Given the description of an element on the screen output the (x, y) to click on. 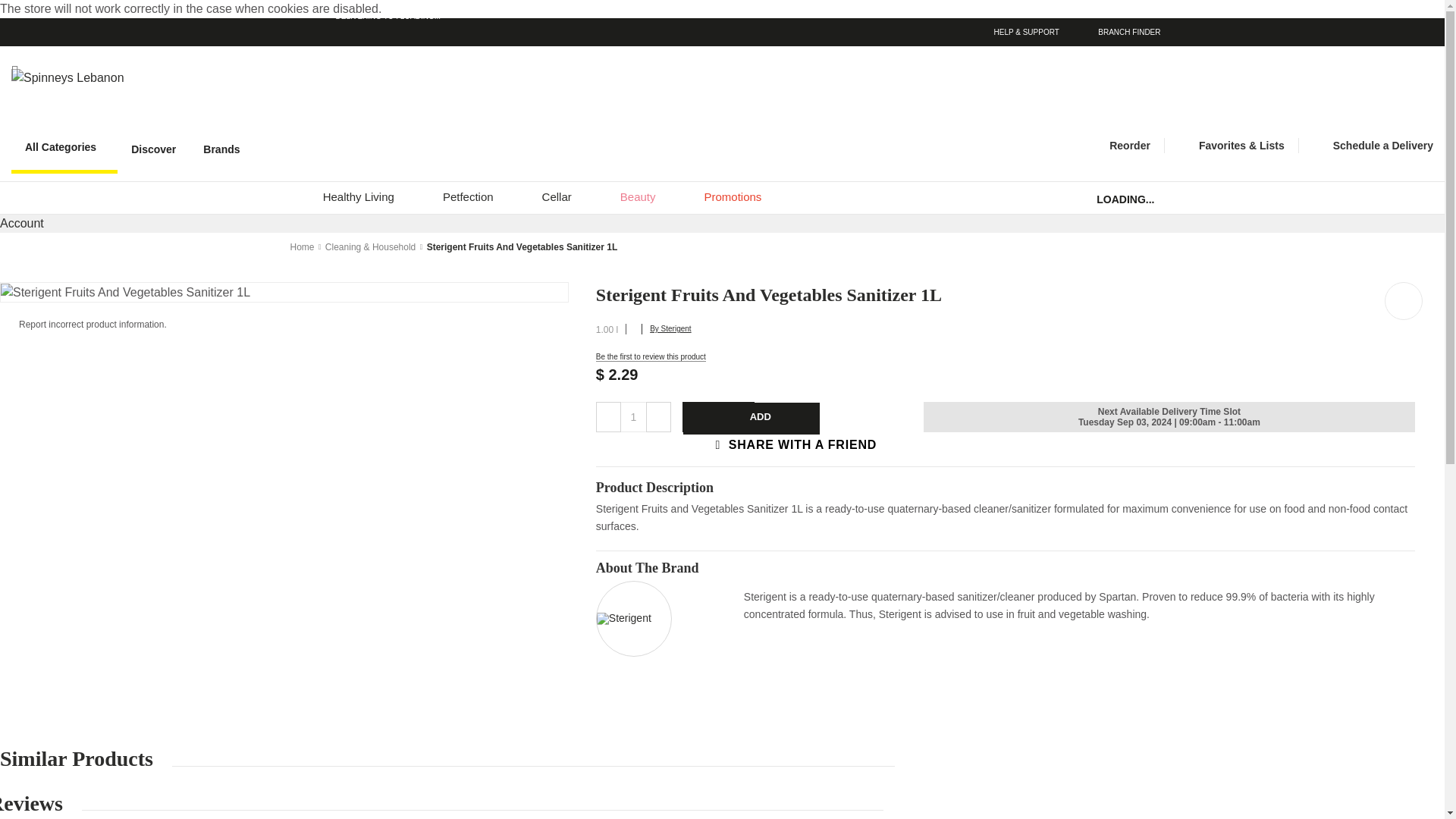
BRANCH FINDER (1113, 31)
My Cart (1379, 88)
Go to Home Page (301, 246)
Spinneys Lebanon (75, 77)
Product Brand (623, 617)
All Categories (64, 149)
Add to Cart (750, 418)
DELIVERING TO : LOADING... (514, 16)
